Given the description of an element on the screen output the (x, y) to click on. 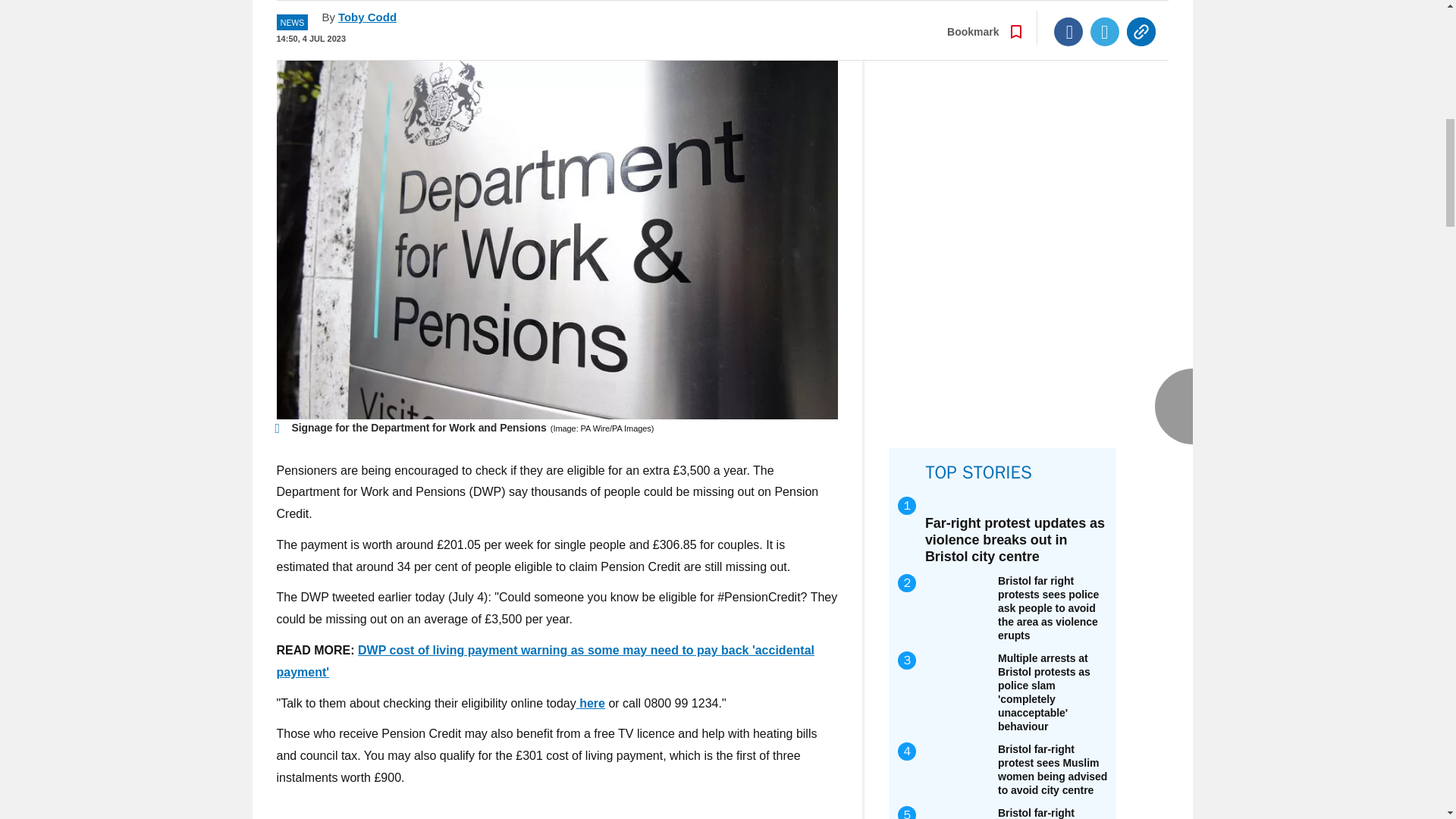
Go (730, 12)
